Given the description of an element on the screen output the (x, y) to click on. 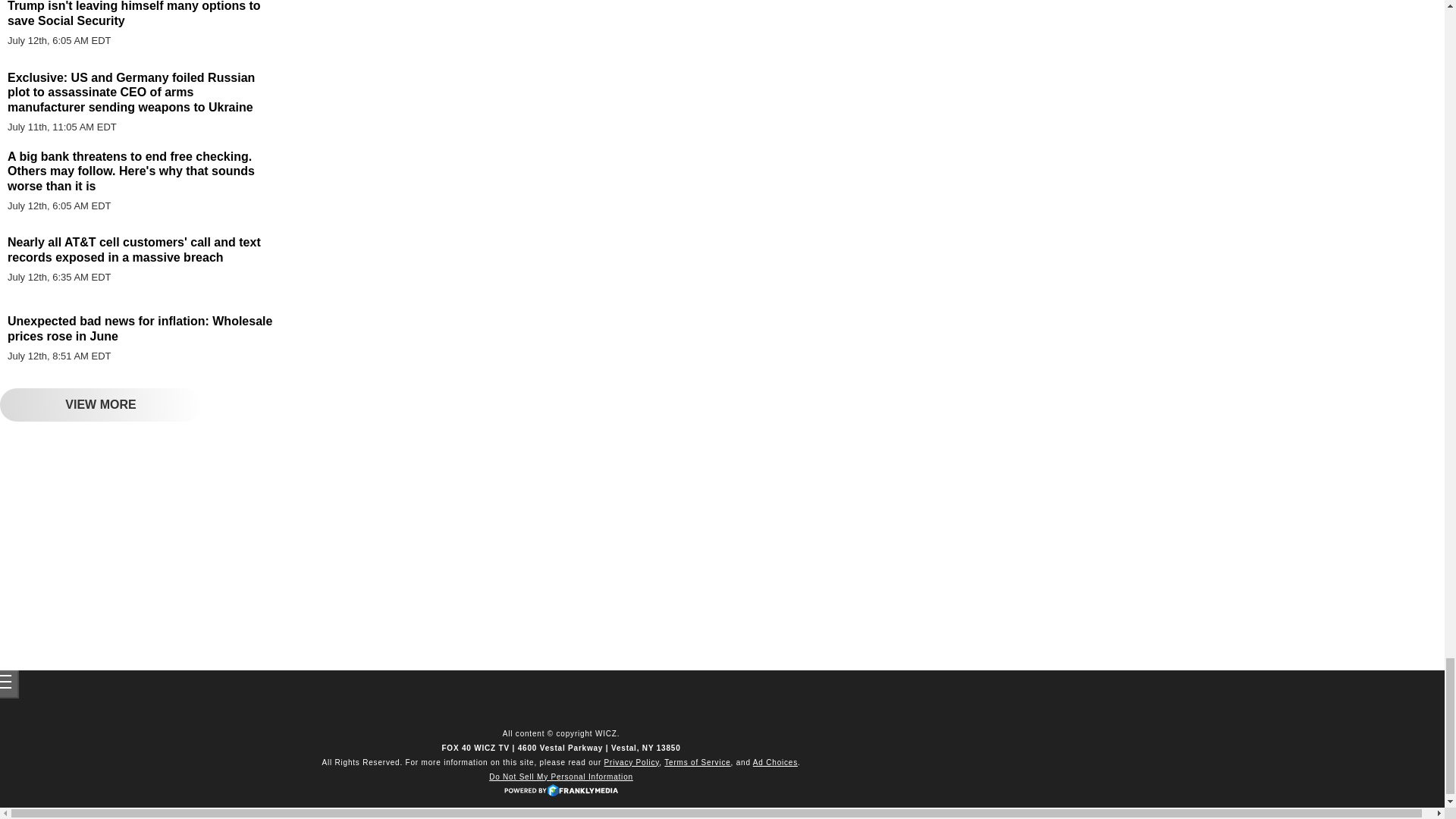
3rd party ad content (136, 544)
